Given the description of an element on the screen output the (x, y) to click on. 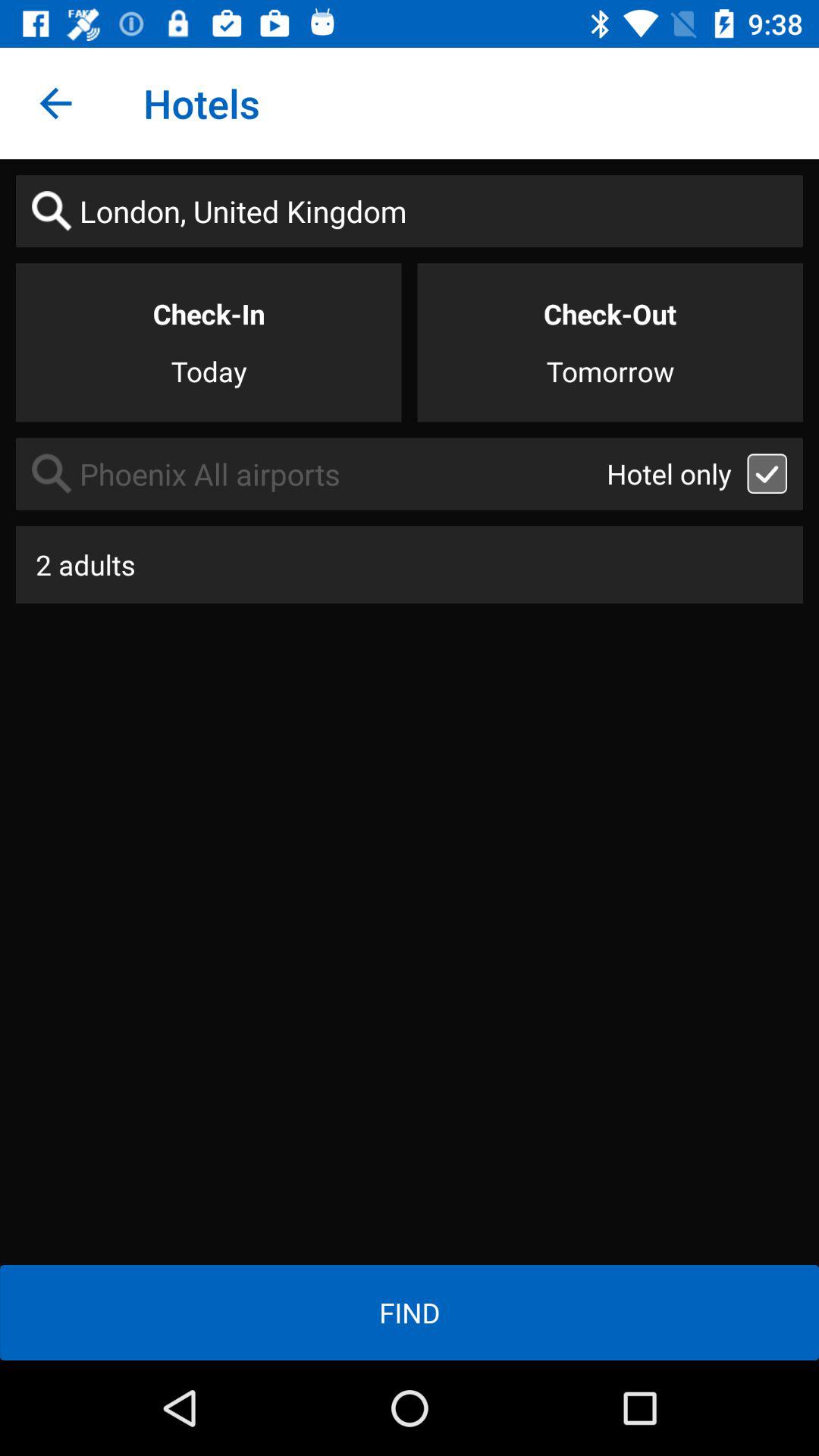
hotel only check box (767, 473)
